Given the description of an element on the screen output the (x, y) to click on. 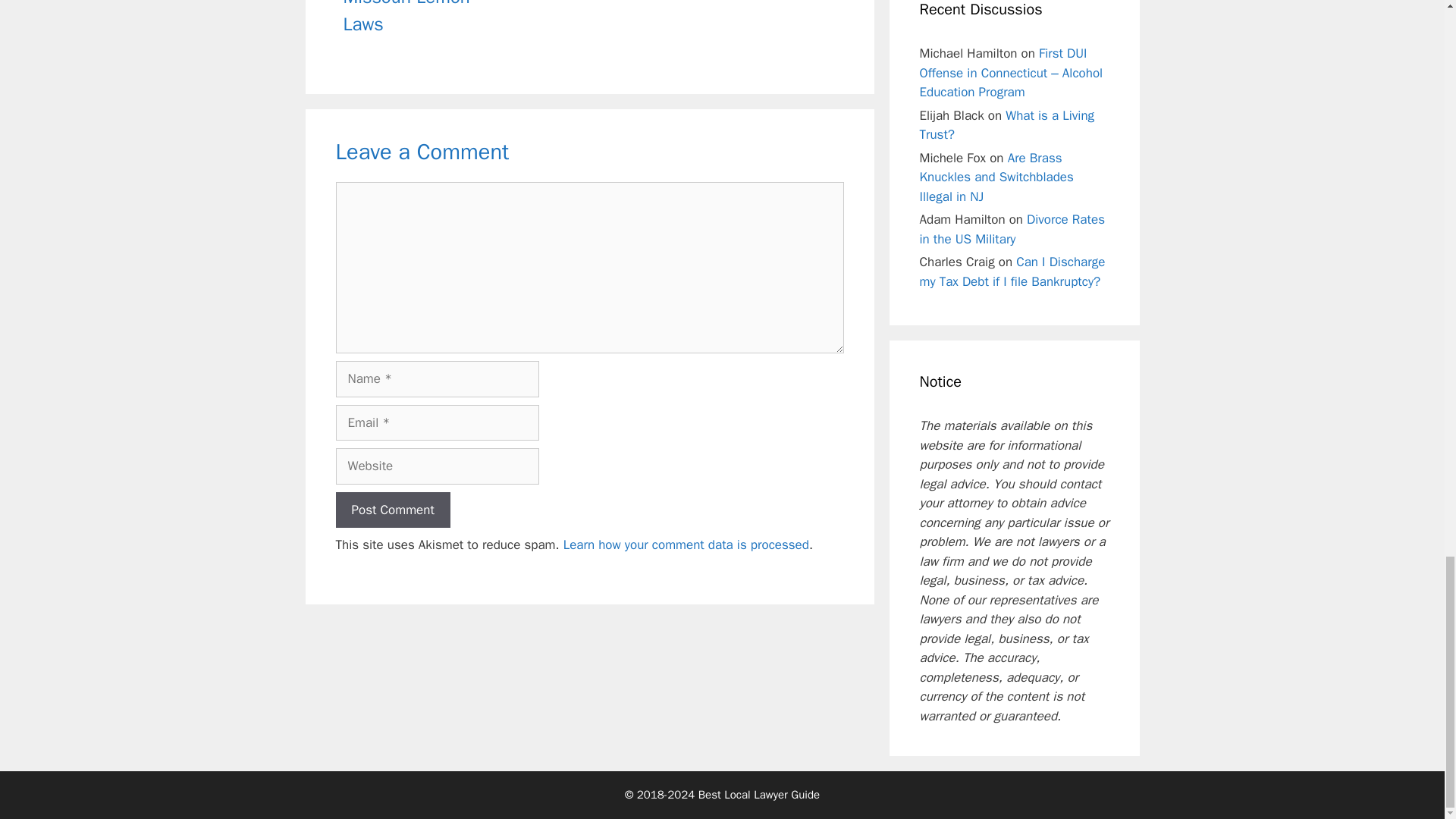
Missouri Lemon Laws (405, 18)
Post Comment (391, 510)
